Given the description of an element on the screen output the (x, y) to click on. 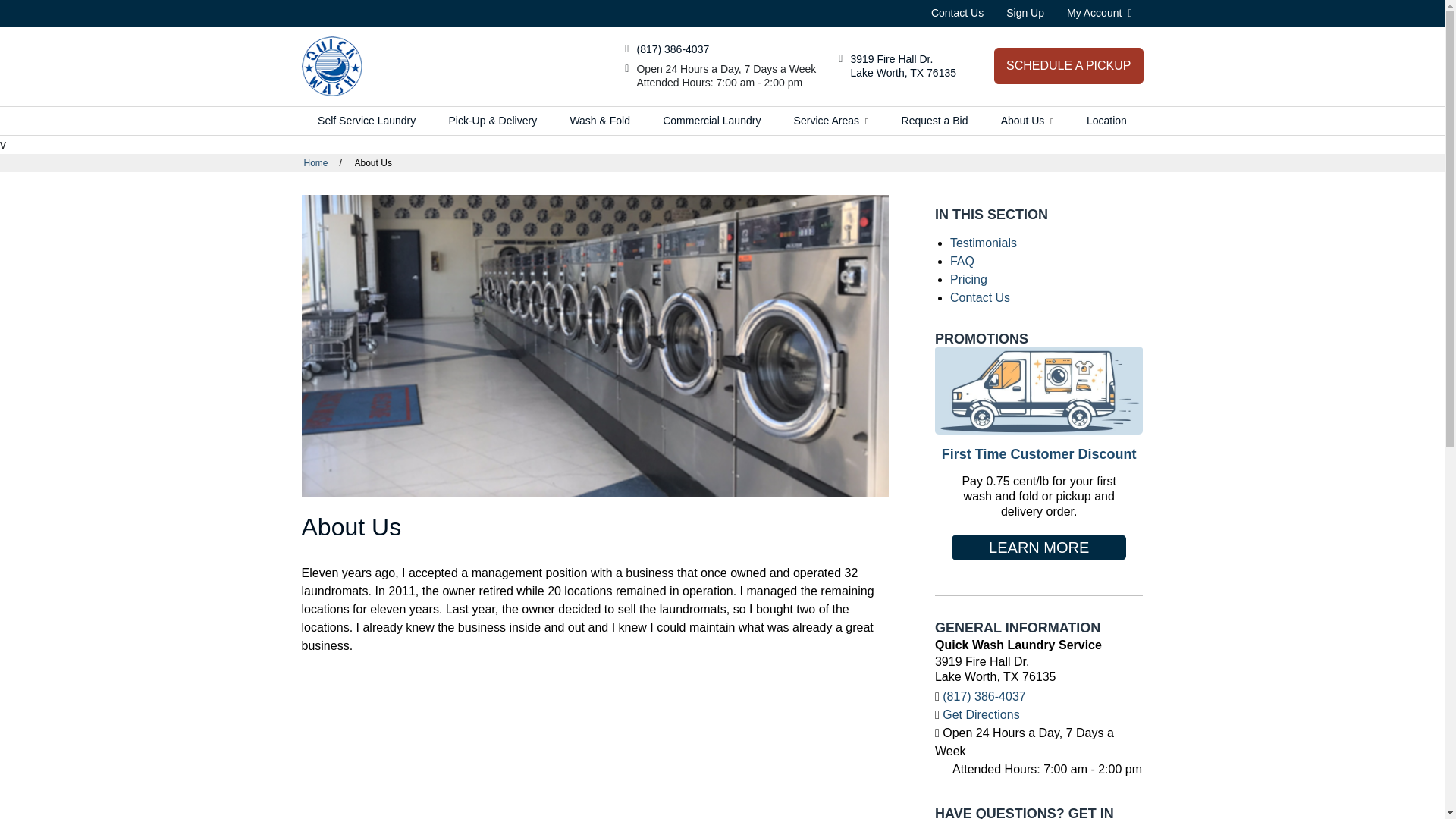
Sign Up (1024, 12)
Sign Up (1024, 12)
Service Areas (831, 121)
Location (1106, 121)
Request a Bid (934, 121)
Commercial Laundry (711, 121)
Self Service Laundry (366, 121)
Contact Us (957, 12)
My Account (903, 65)
Get Directions (1099, 12)
SCHEDULE A PICKUP (903, 65)
Self Service Laundry (1068, 65)
Home (366, 121)
About Us (331, 66)
